Given the description of an element on the screen output the (x, y) to click on. 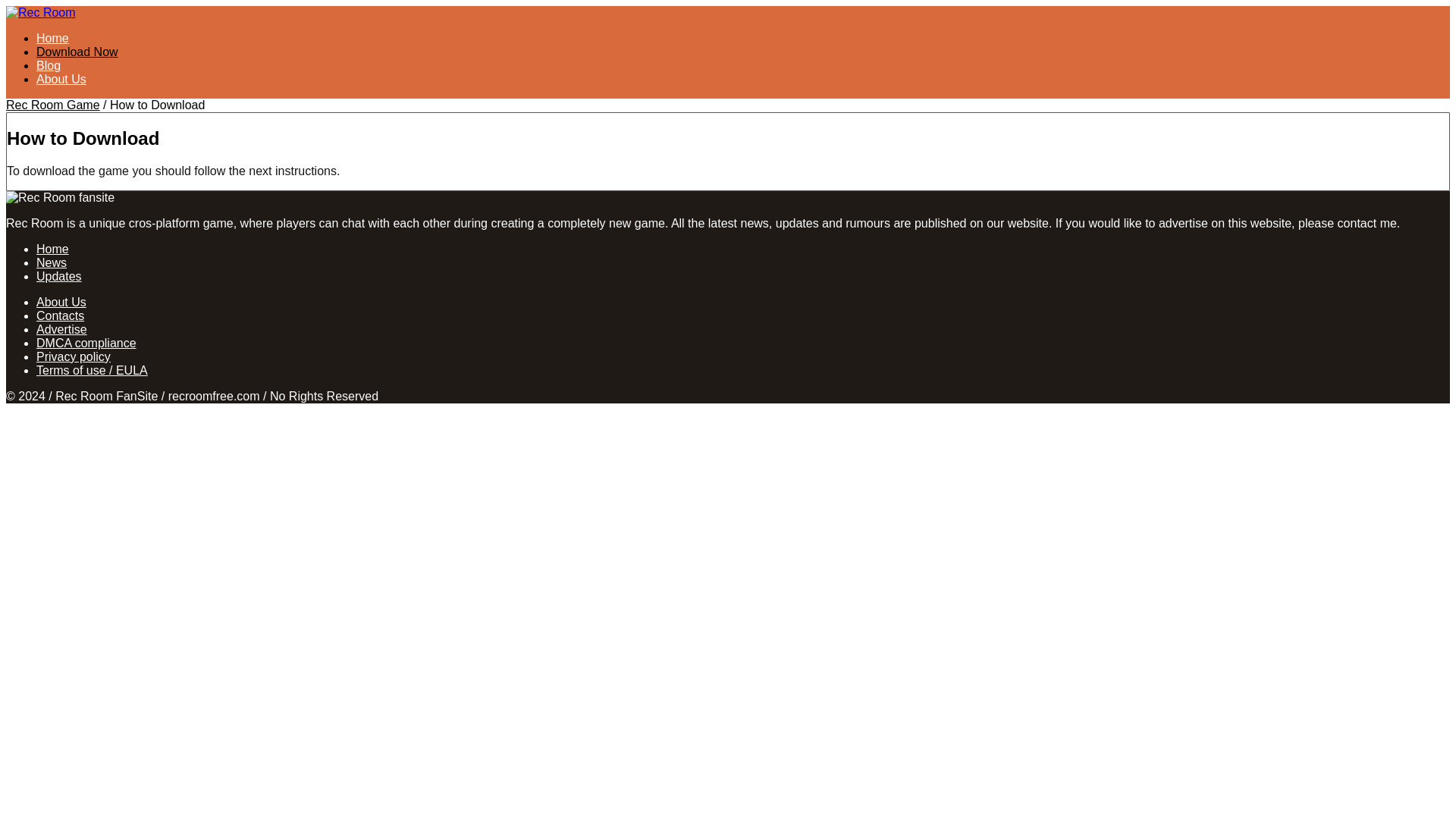
About Us (60, 78)
About Us (60, 301)
News (51, 262)
Download Now (76, 51)
Home (52, 248)
Privacy policy (73, 356)
Updates (58, 276)
Contacts (60, 315)
Home (52, 38)
Rec Room Game (52, 104)
DMCA compliance (86, 342)
Blog (48, 65)
Advertise (61, 328)
